Given the description of an element on the screen output the (x, y) to click on. 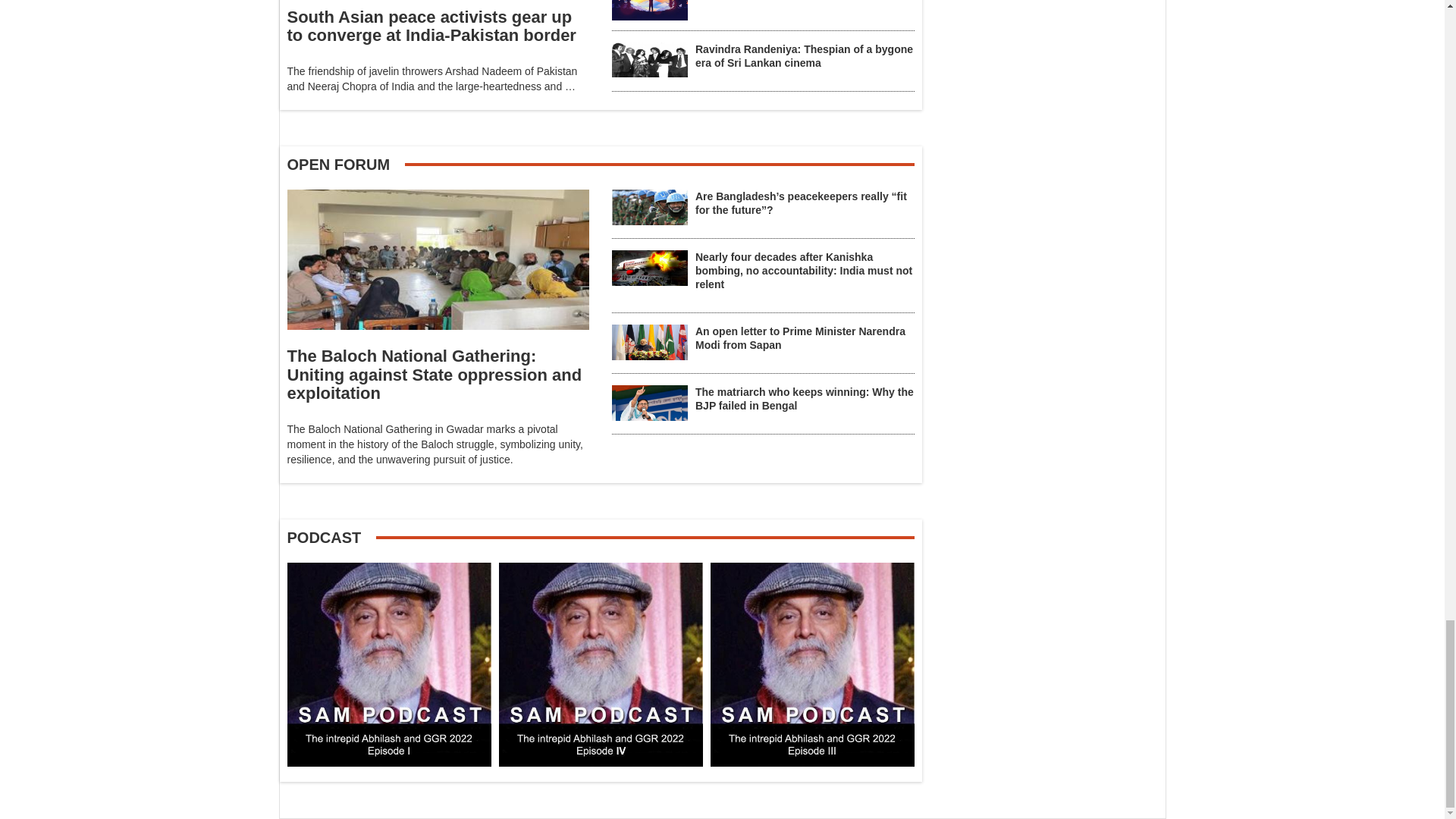
The intrepid Abhilash and GGR 2022-Part IV (601, 664)
The intrepid Abhilash and GGR 2022 Episode III (812, 664)
The intrepid Abhilash and GGR 2022 Episode I (388, 664)
